Given the description of an element on the screen output the (x, y) to click on. 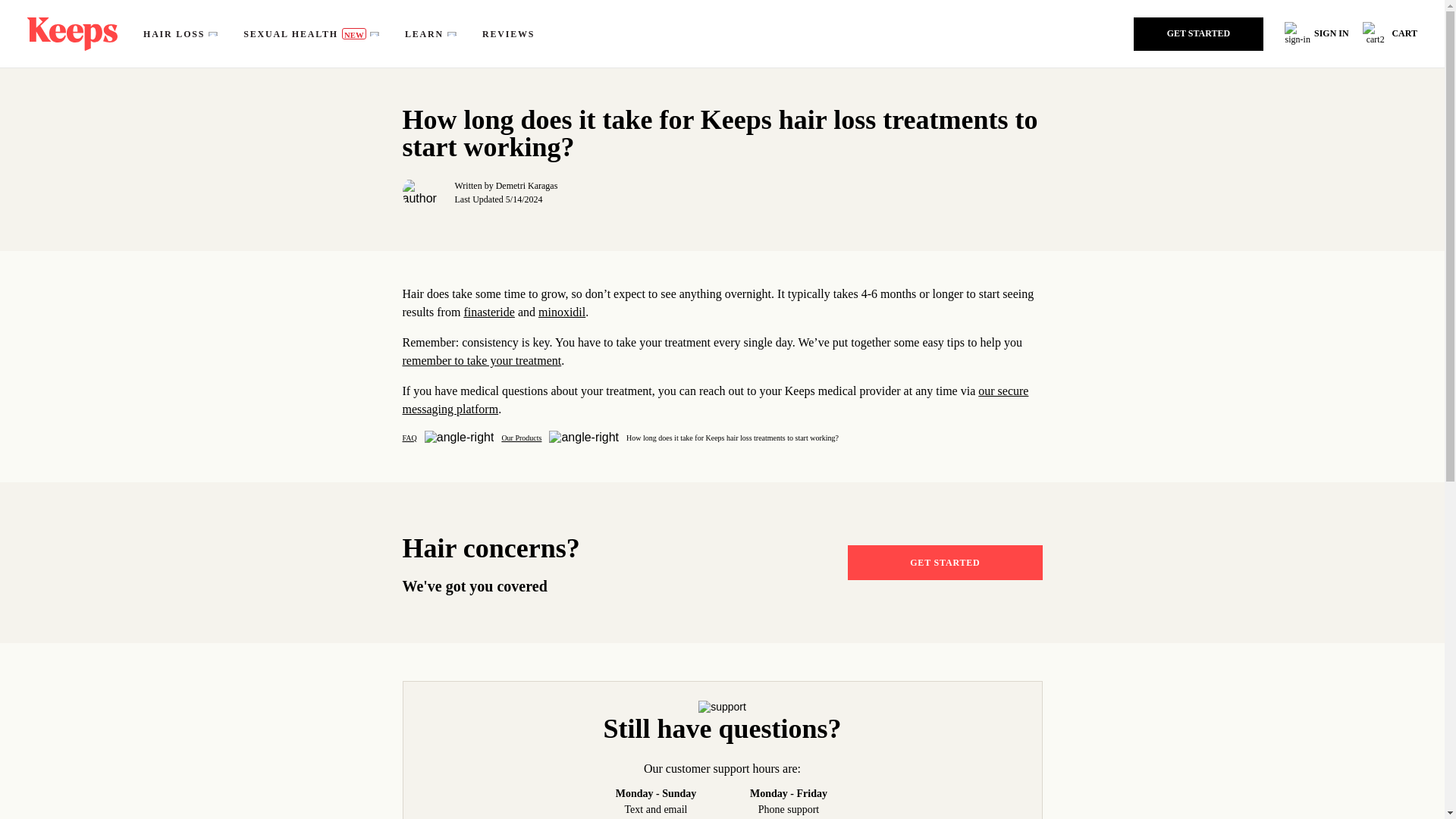
finasteride (489, 311)
GET STARTED (1202, 32)
minoxidil (561, 311)
FAQ (408, 438)
CART (1389, 33)
remember to take your treatment (480, 359)
SIGN IN (1316, 33)
GET STARTED (944, 561)
our secure messaging platform (714, 399)
Our Products (520, 438)
